Given the description of an element on the screen output the (x, y) to click on. 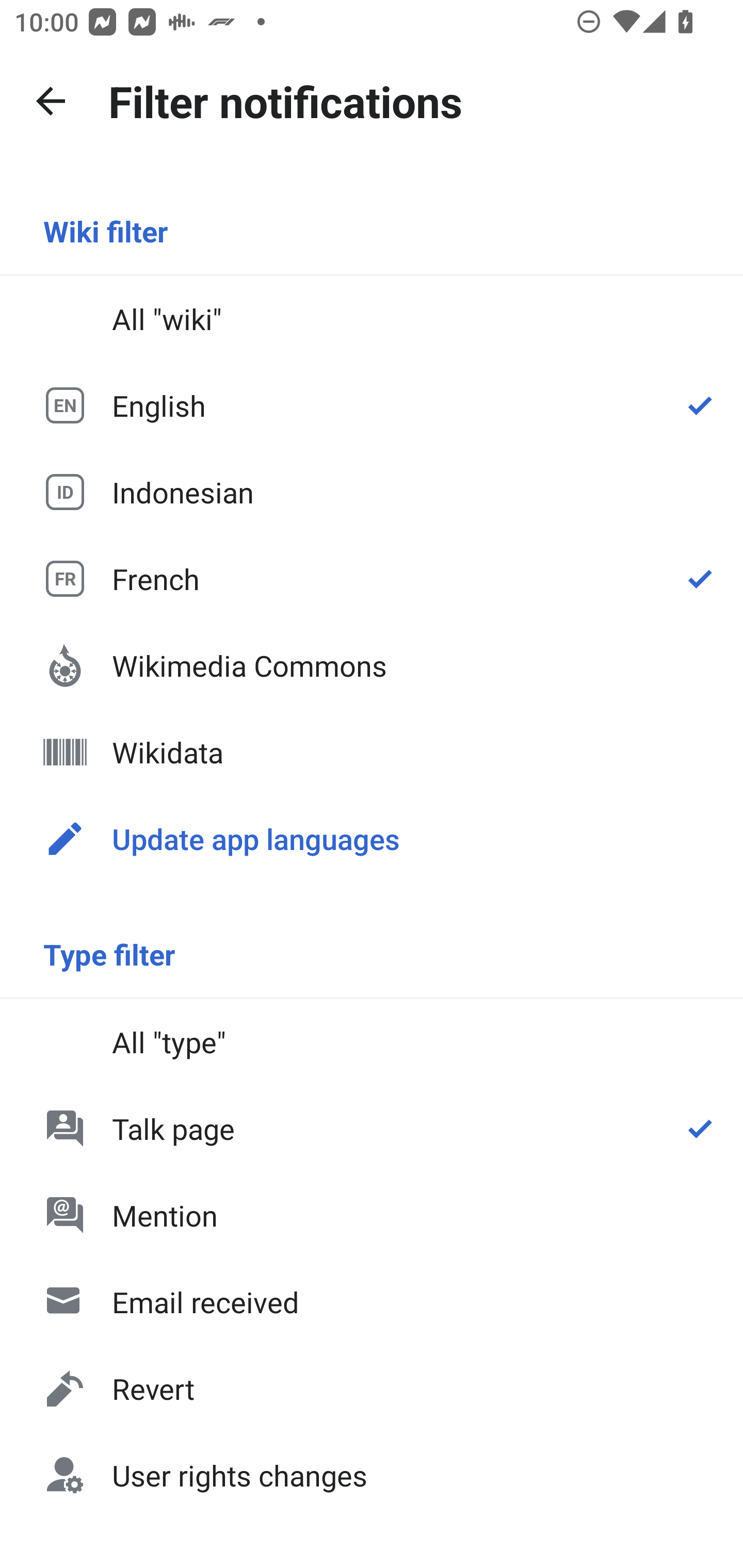
Navigate up (50, 101)
All "wiki" (371, 318)
EN English (371, 405)
ID Indonesian (371, 491)
FR French (371, 578)
Wikimedia Commons (371, 665)
Wikidata (371, 751)
Update app languages (371, 837)
All "type" (371, 1041)
Talk page (371, 1128)
Mention (371, 1215)
Email received (371, 1302)
Revert (371, 1388)
User rights changes (371, 1474)
